Given the description of an element on the screen output the (x, y) to click on. 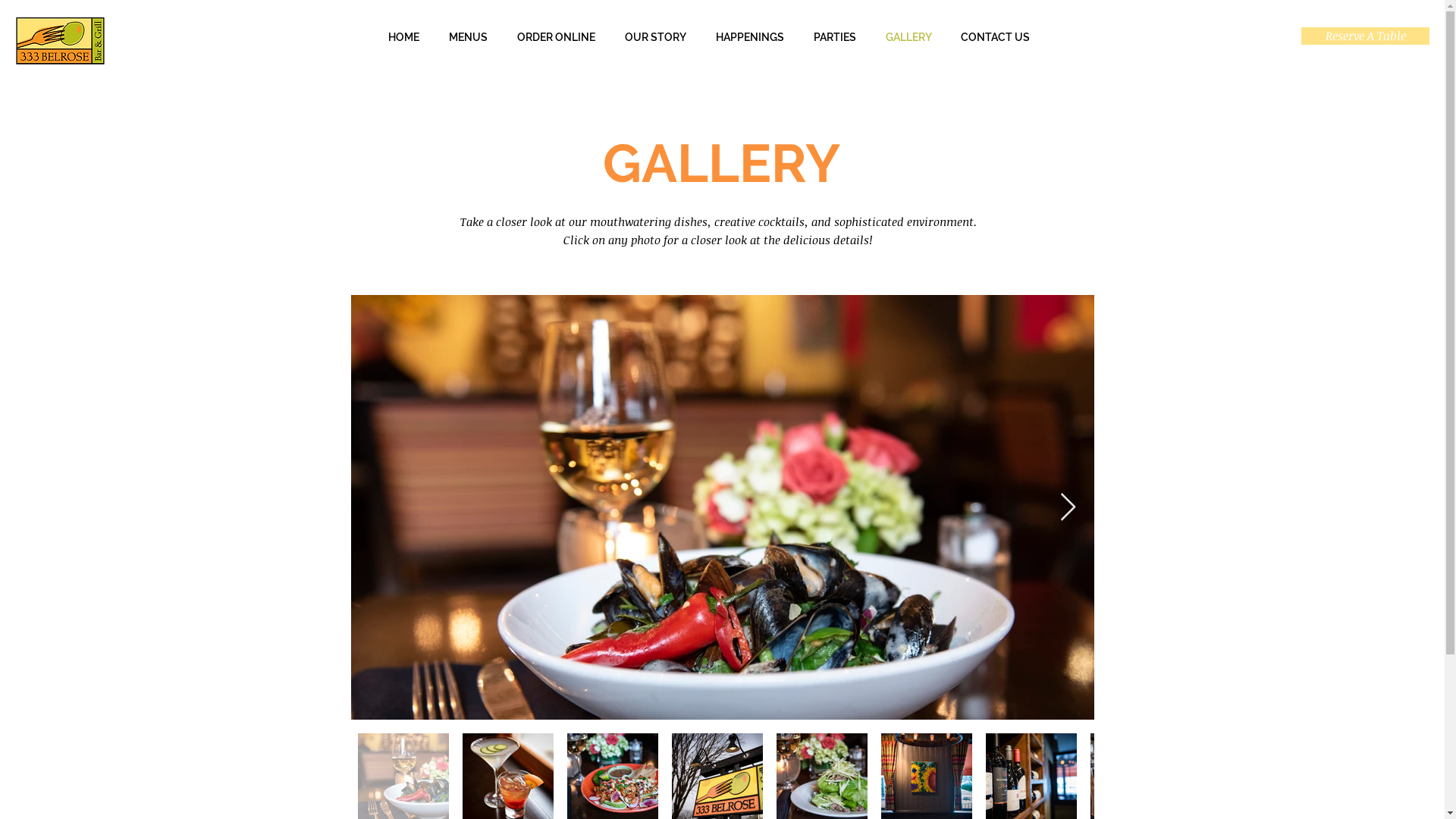
ORDER ONLINE Element type: text (555, 37)
HAPPENINGS Element type: text (749, 37)
MENUS Element type: text (467, 37)
HOME Element type: text (403, 37)
OUR STORY Element type: text (654, 37)
CONTACT US Element type: text (995, 37)
PARTIES Element type: text (835, 37)
GALLERY Element type: text (907, 37)
Reserve A Table Element type: text (1365, 35)
